Given the description of an element on the screen output the (x, y) to click on. 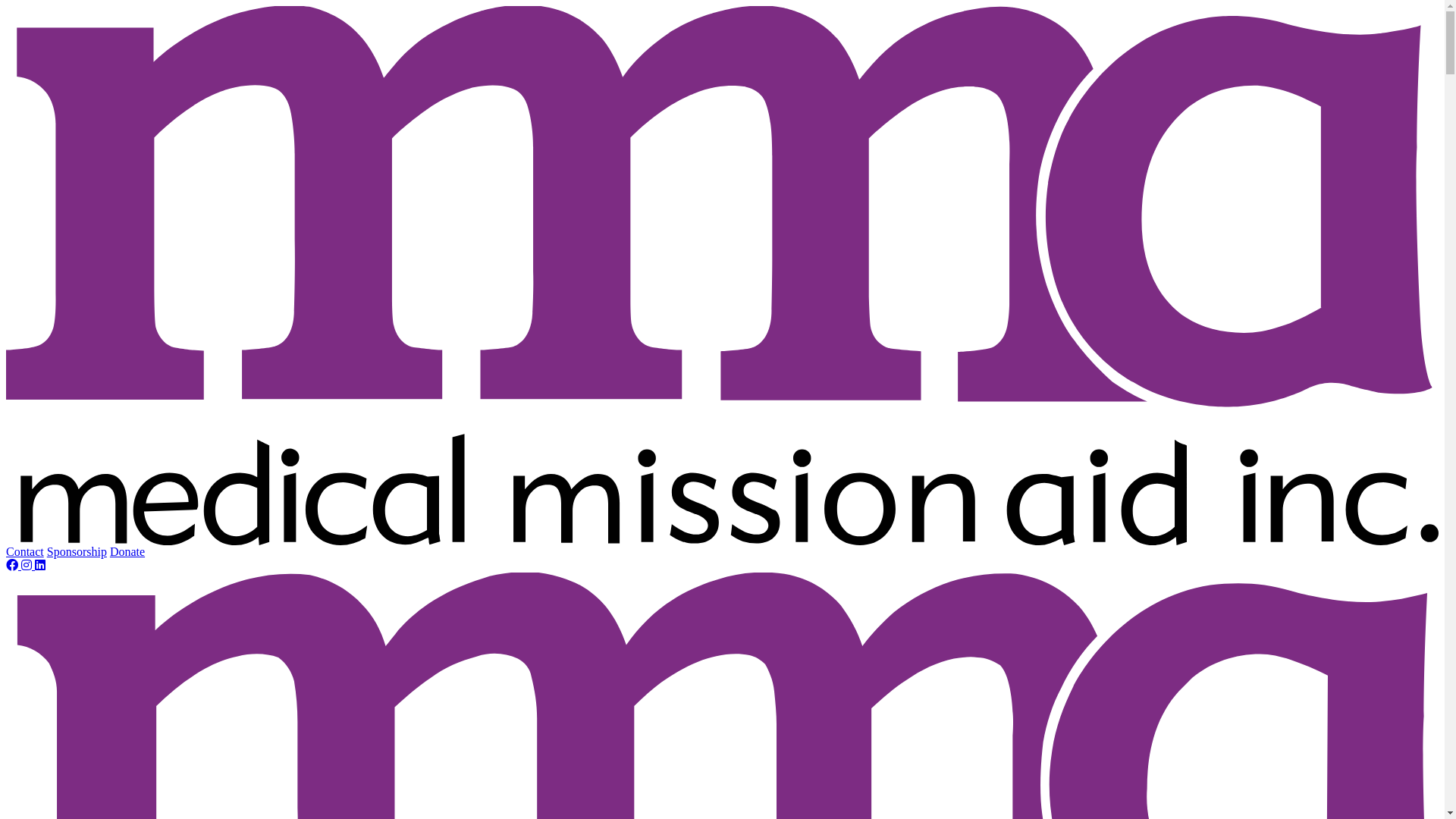
Sponsorship Element type: text (76, 551)
Donate Element type: text (126, 551)
Contact Element type: text (24, 551)
